Given the description of an element on the screen output the (x, y) to click on. 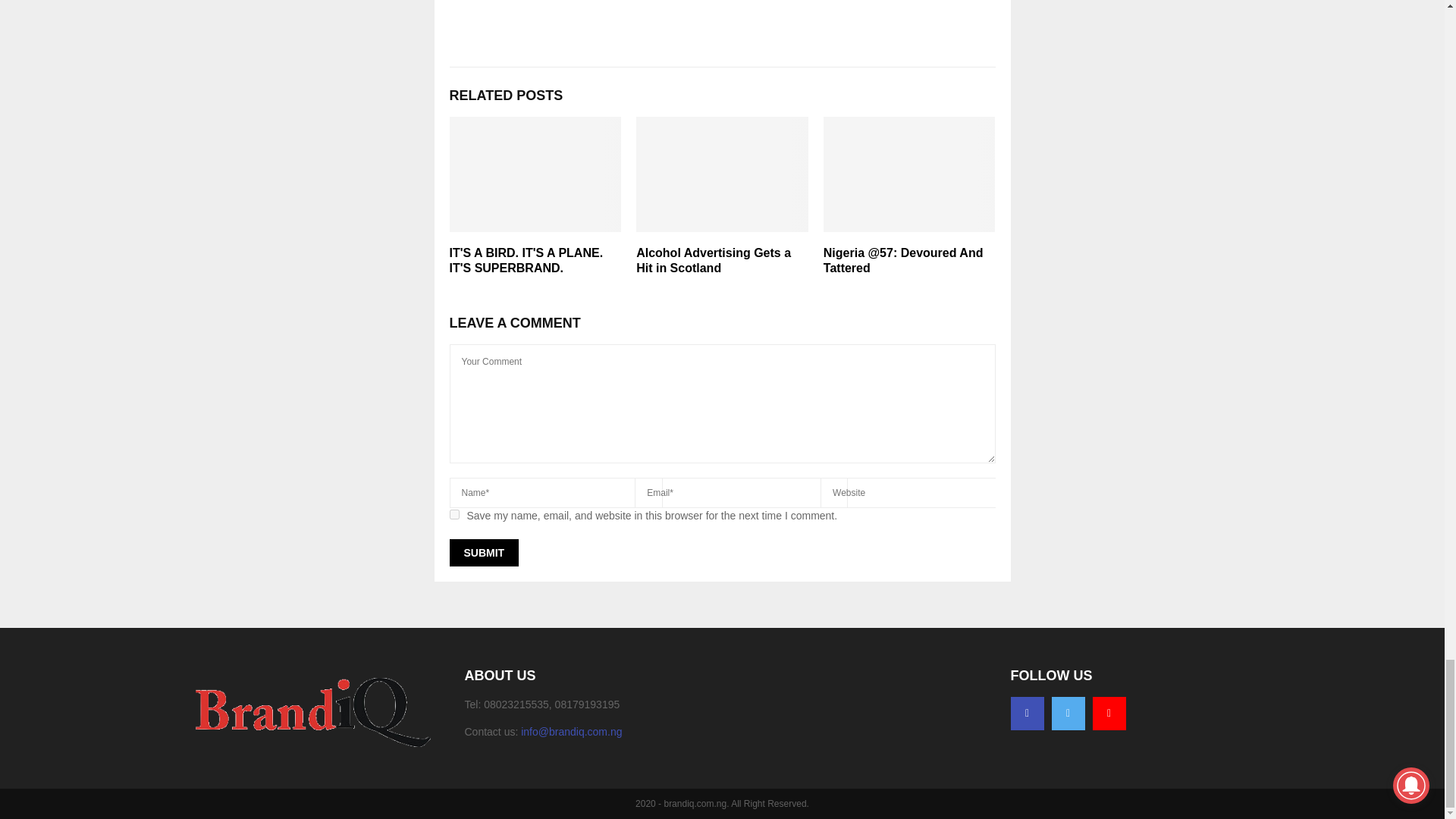
yes (453, 514)
Youtube (1108, 713)
Twitter (1067, 713)
Submit (483, 552)
Facebook (1026, 713)
